Given the description of an element on the screen output the (x, y) to click on. 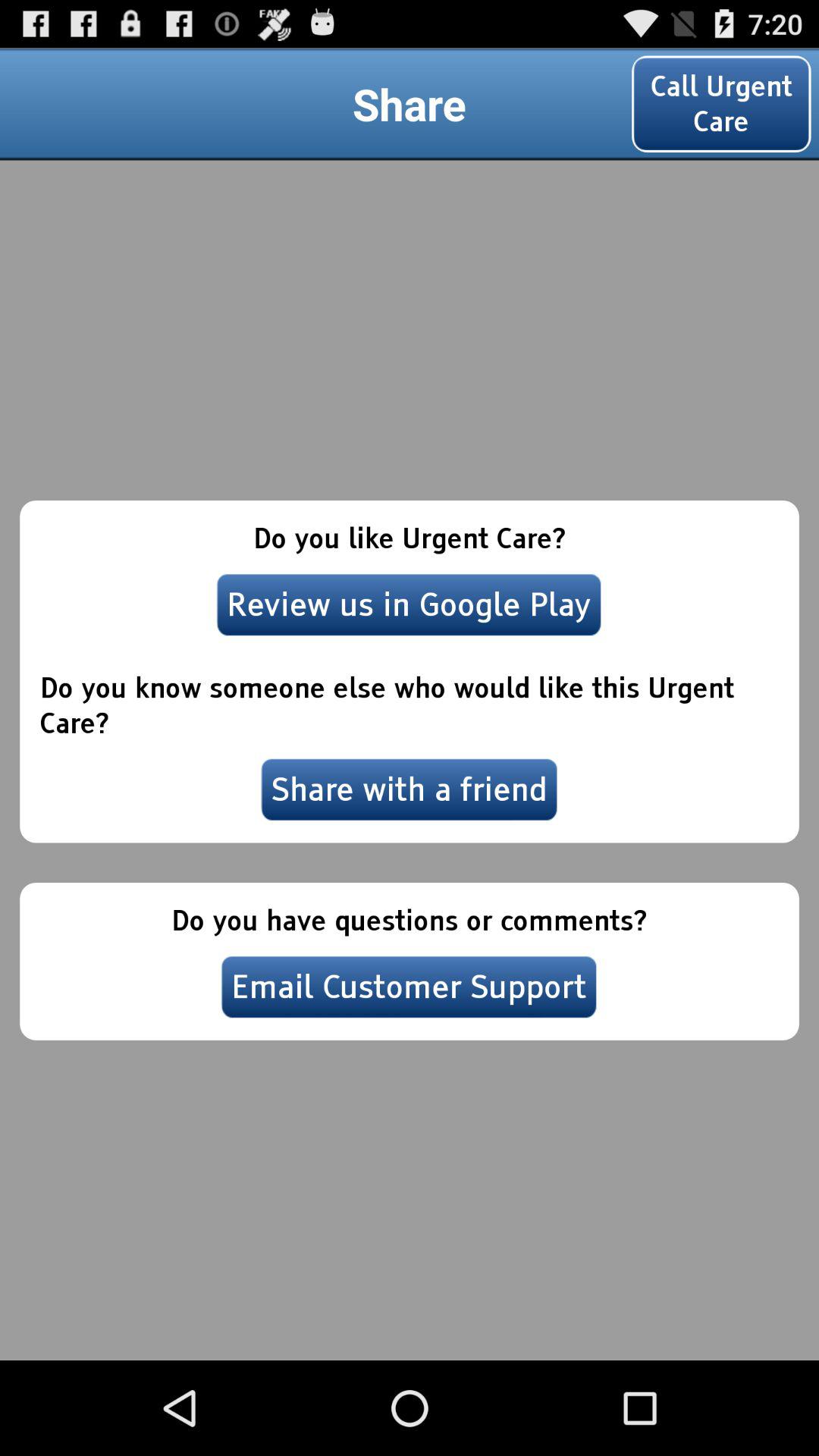
turn on the item above the do you know item (408, 604)
